Given the description of an element on the screen output the (x, y) to click on. 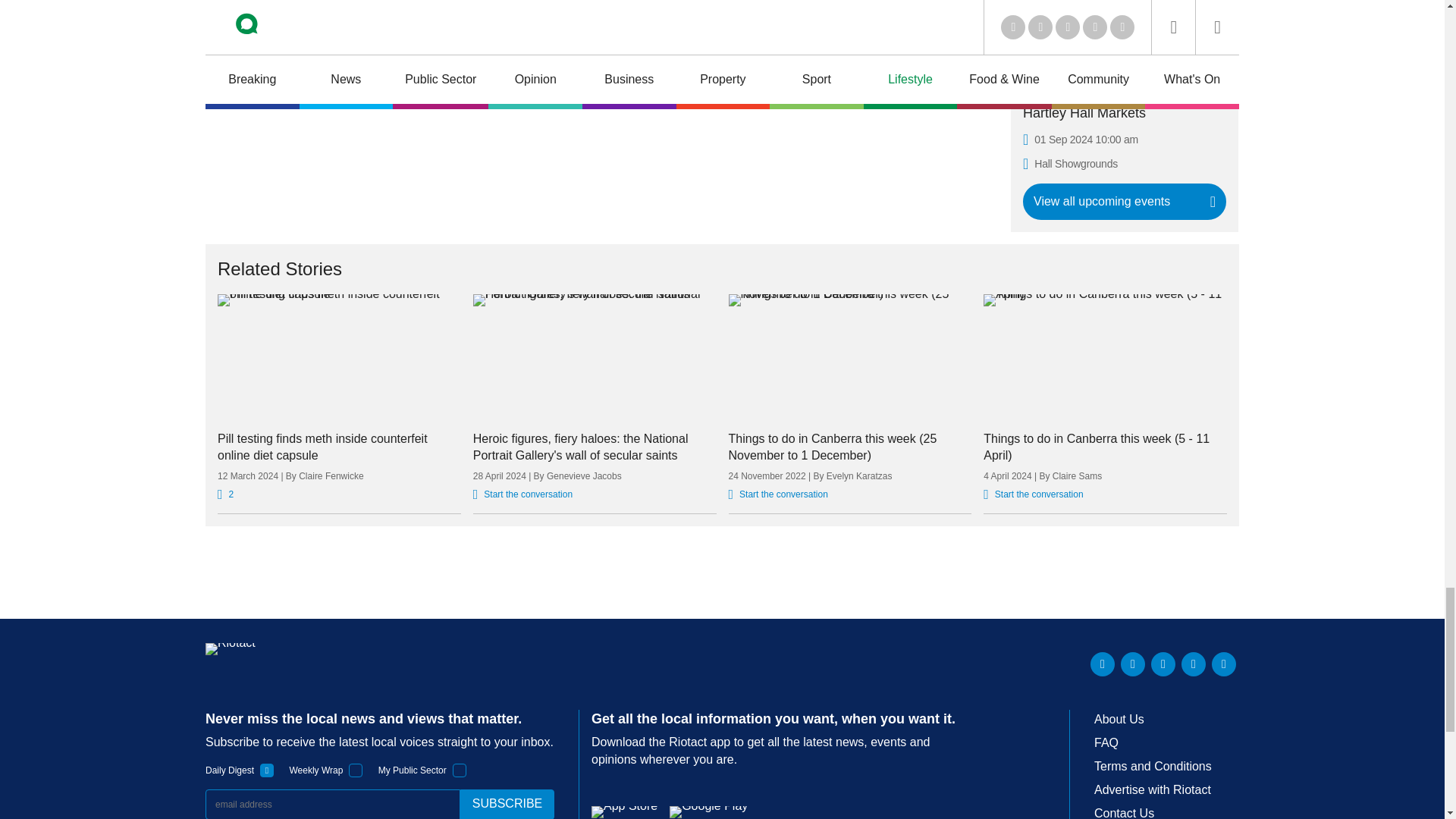
Instagram (1223, 663)
Youtube (1162, 663)
Facebook (1192, 663)
1 (458, 770)
App Store (624, 811)
1 (355, 770)
subscribe (507, 804)
1 (266, 770)
LinkedIn (1102, 663)
Twitter (1132, 663)
